Given the description of an element on the screen output the (x, y) to click on. 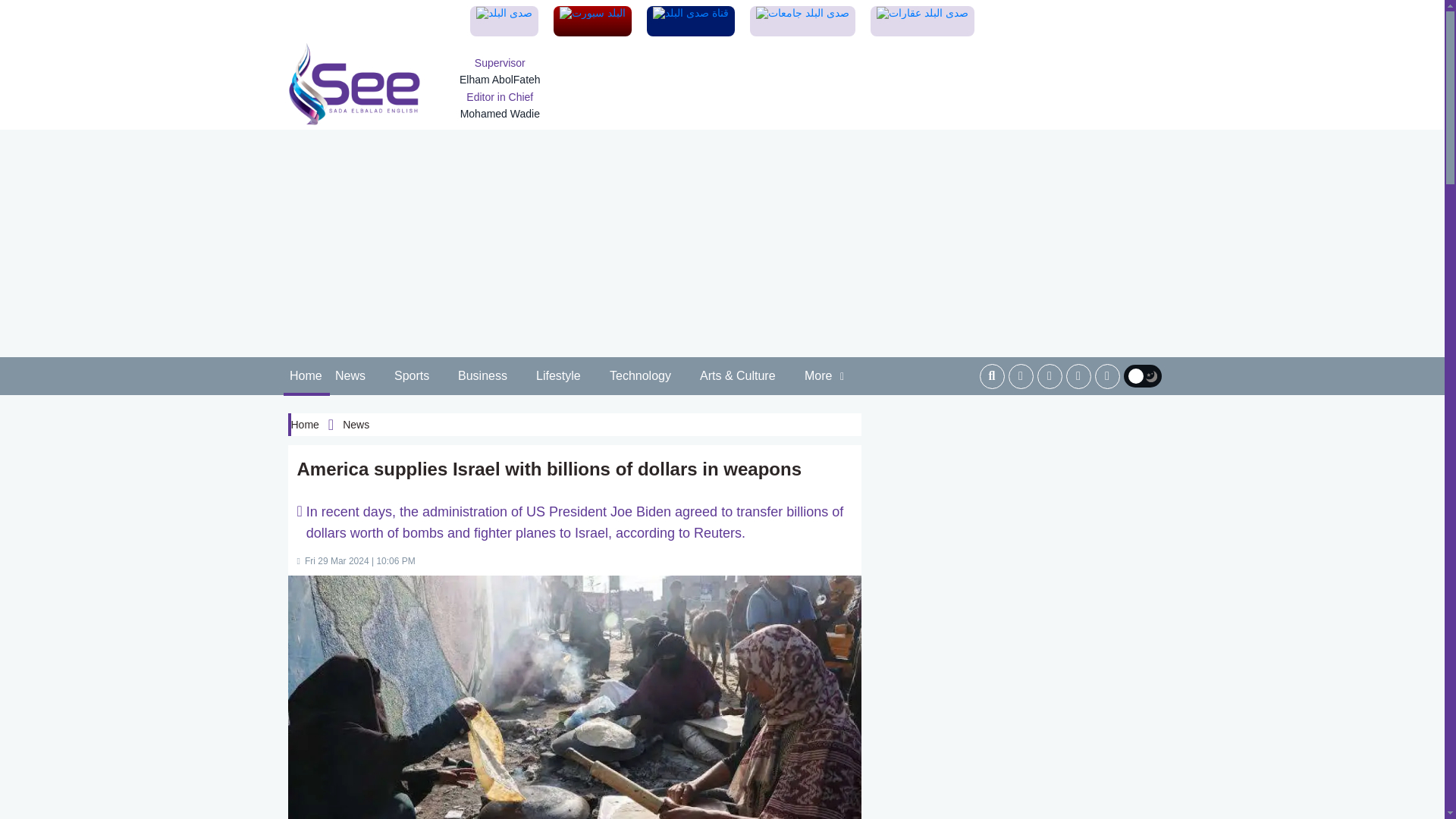
Sports (412, 376)
News (350, 376)
Technology (641, 376)
Technology (641, 376)
facebook (1021, 376)
Lifestyle (558, 376)
Business (483, 376)
Lifestyle (558, 376)
twitter (1049, 376)
Sports (412, 376)
More (824, 376)
 Sada Elbalad (354, 84)
instagram (1077, 376)
Business (483, 376)
Home (306, 376)
